Given the description of an element on the screen output the (x, y) to click on. 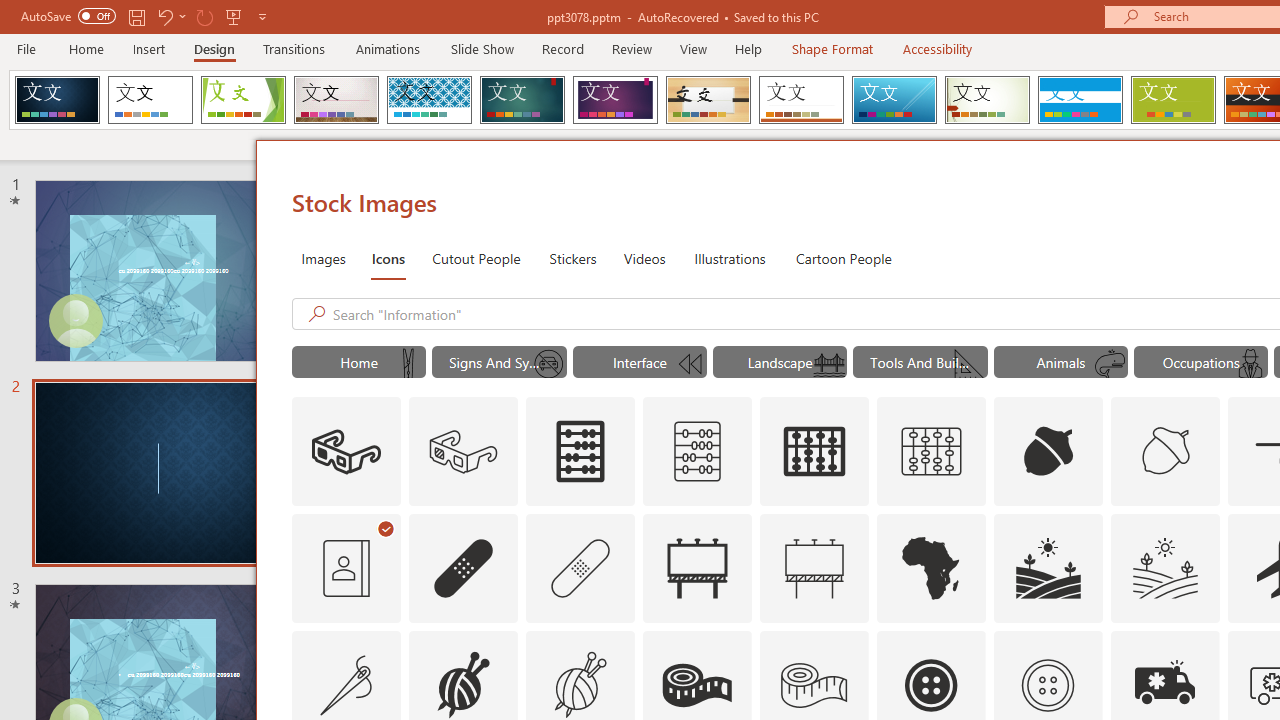
AutomationID: Icons_3dGlasses_M (463, 452)
AutomationID: Icons_Agriculture (1048, 568)
"Occupations" Icons. (1201, 362)
"Tools And Building" Icons. (920, 362)
Facet (243, 100)
AutomationID: Icons_Abacus (580, 452)
Banded (1080, 100)
